Given the description of an element on the screen output the (x, y) to click on. 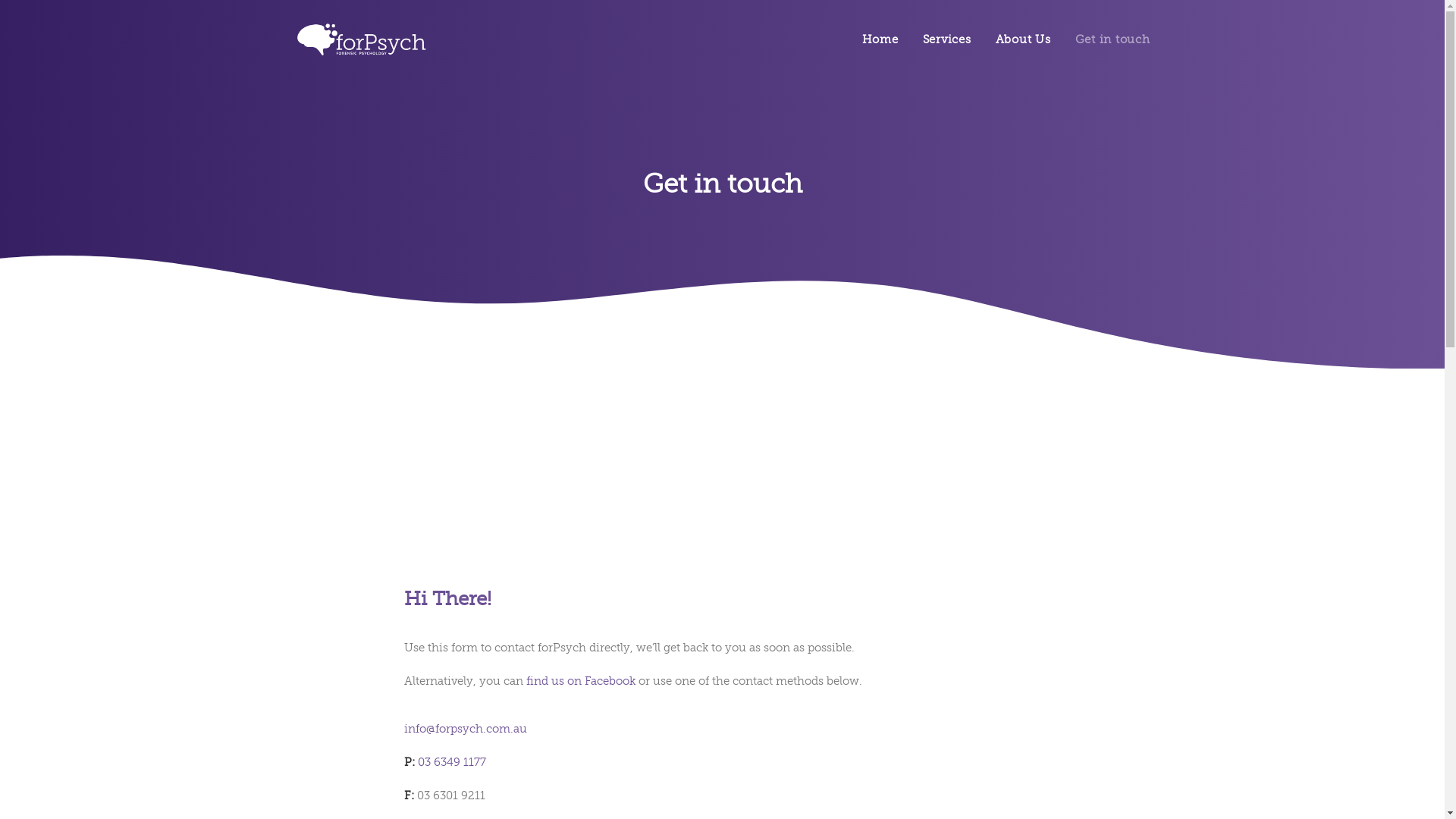
find us on Facebook Element type: text (580, 680)
Home Element type: text (884, 39)
Get in touch Element type: text (1107, 39)
info@forpsych.com.au Element type: text (464, 728)
Services Element type: text (946, 39)
03 6349 1177 Element type: text (451, 761)
About Us Element type: text (1022, 39)
